Given the description of an element on the screen output the (x, y) to click on. 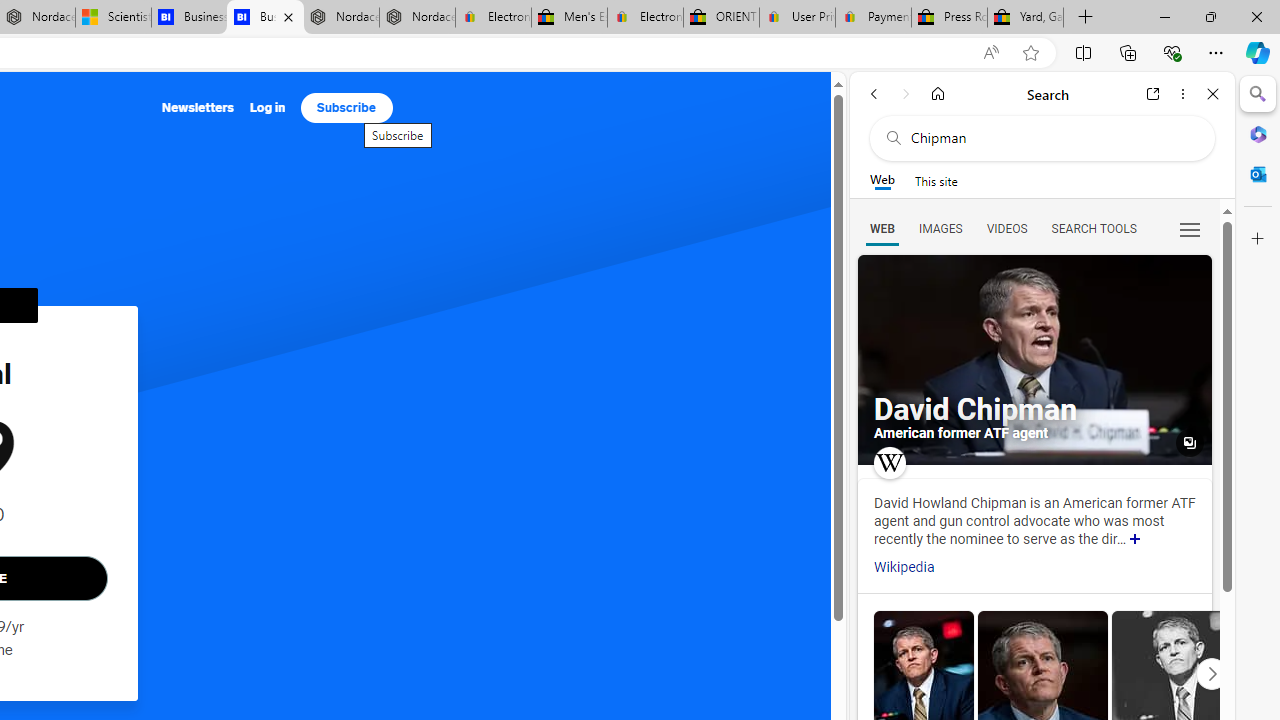
Subscribe (345, 107)
Newsletters (198, 107)
